Given the description of an element on the screen output the (x, y) to click on. 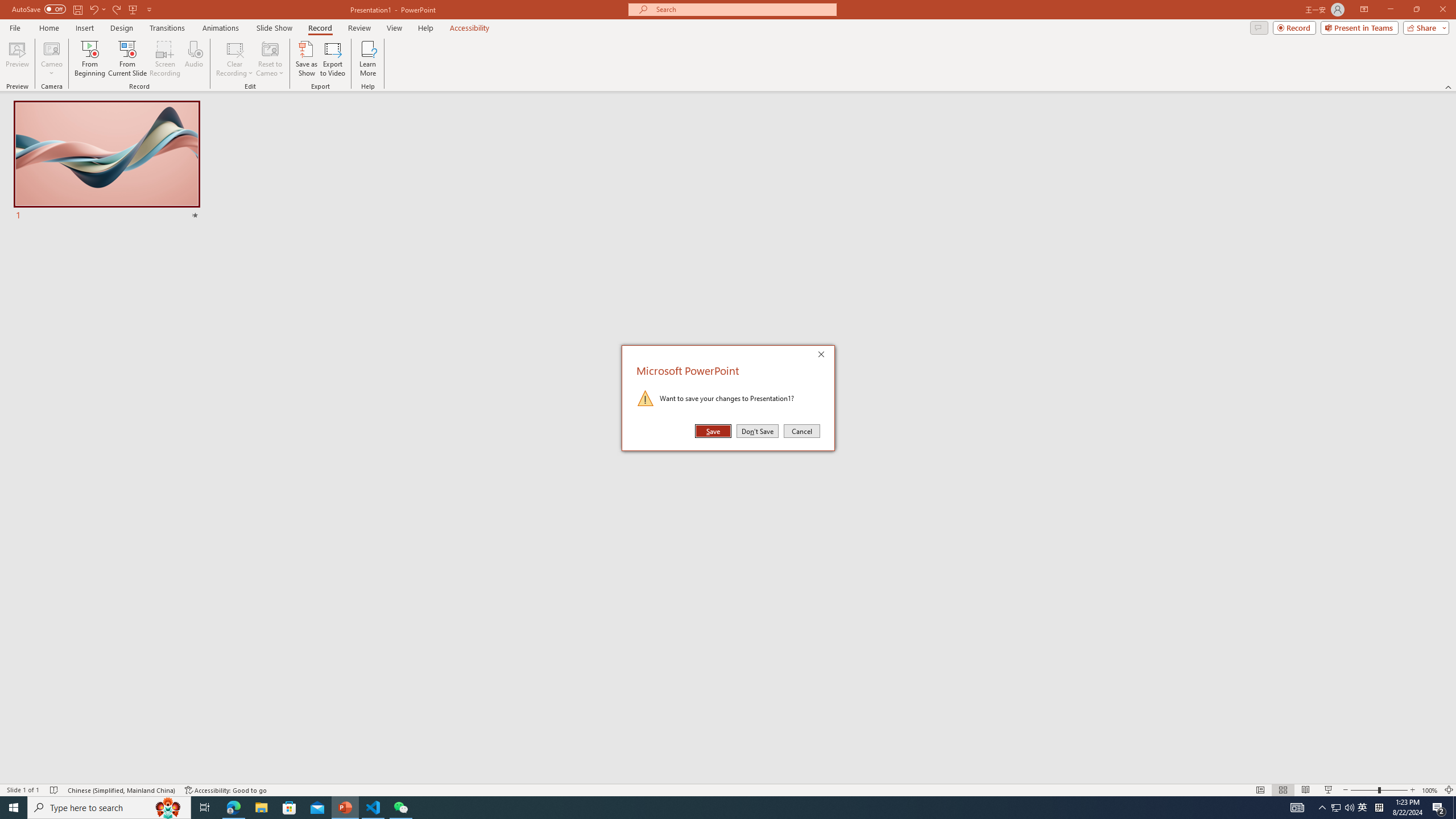
Export to Video (332, 58)
Audio (193, 58)
